Given the description of an element on the screen output the (x, y) to click on. 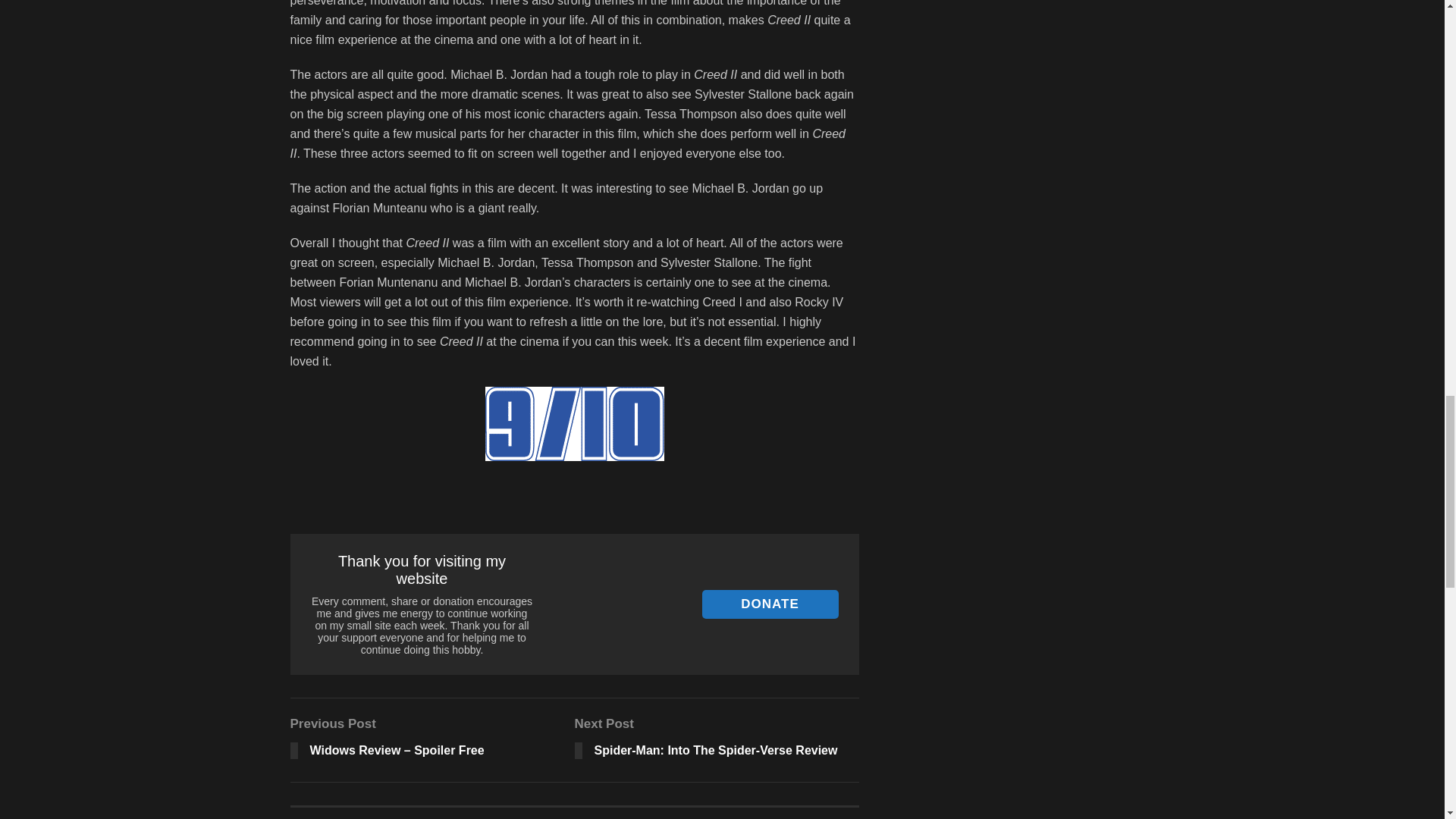
DONATE (769, 604)
